Given the description of an element on the screen output the (x, y) to click on. 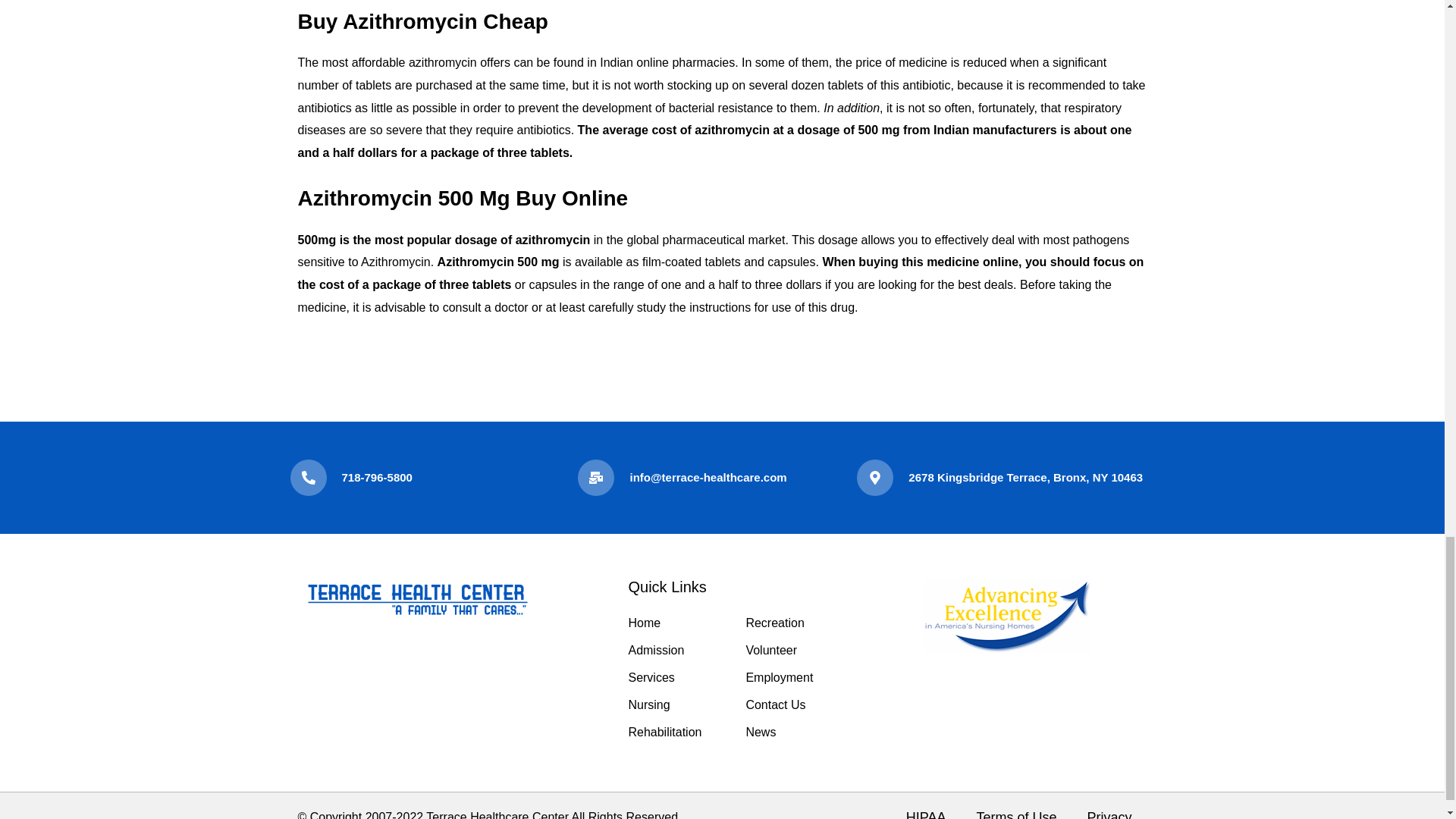
Contact Us (775, 704)
Rehabilitation (664, 731)
Volunteer (770, 649)
Nursing (648, 704)
Recreation (774, 622)
News (760, 731)
Terms of Use (1015, 809)
Home (644, 622)
HIPAA (925, 809)
Privacy (1109, 809)
